Given the description of an element on the screen output the (x, y) to click on. 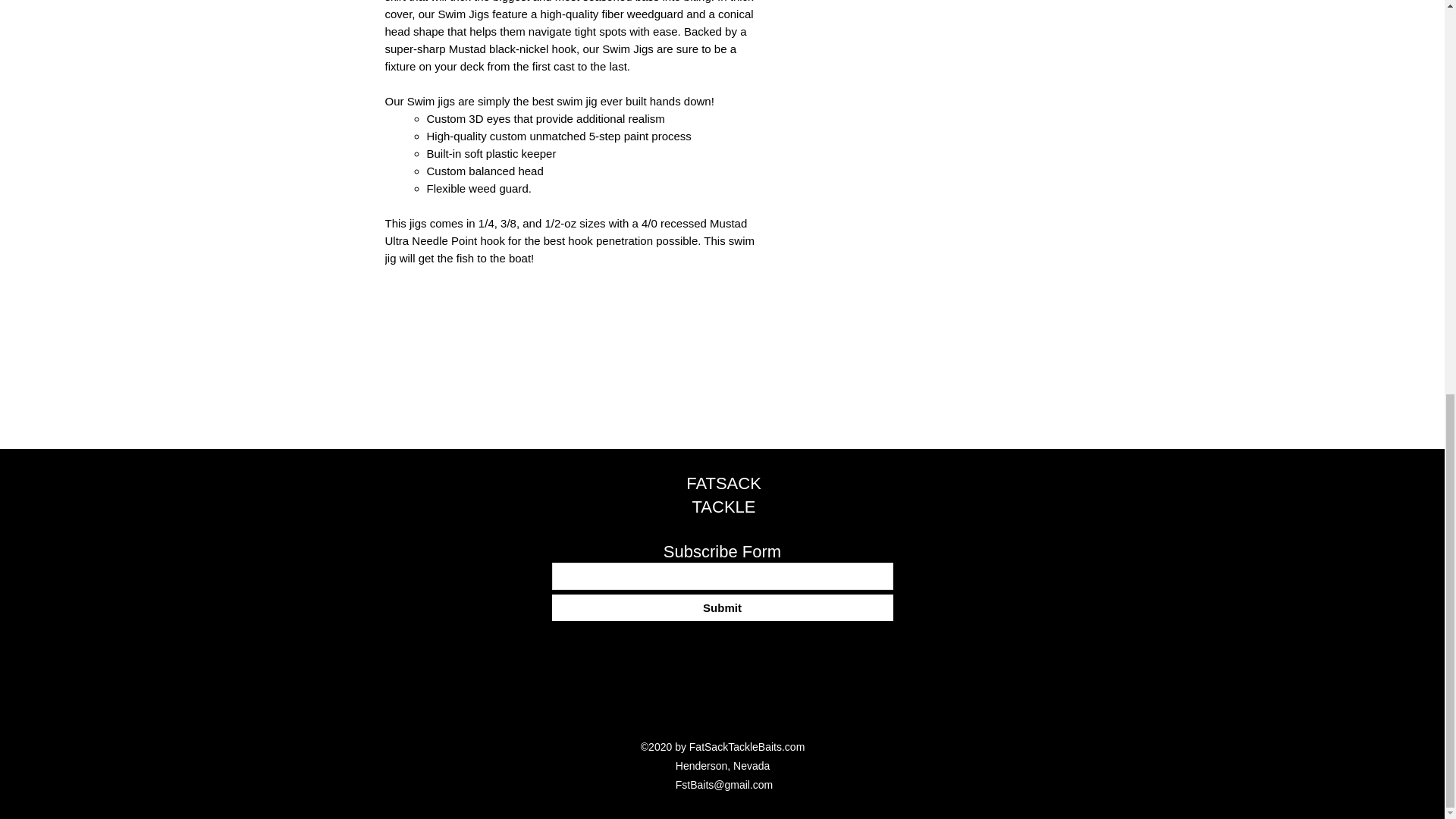
FATSACK TACKLE (723, 495)
Submit (722, 607)
